Given the description of an element on the screen output the (x, y) to click on. 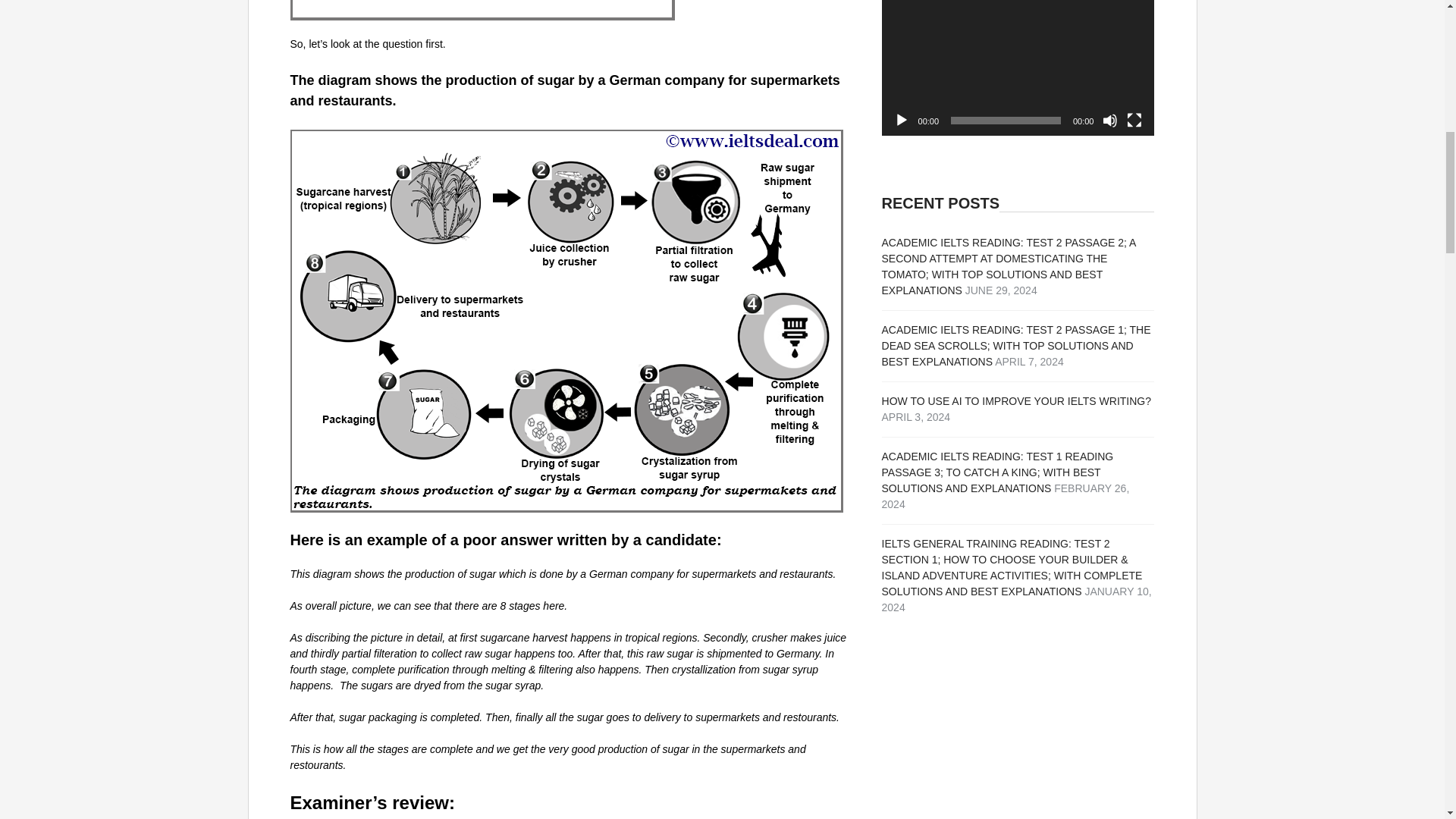
Mute (1110, 120)
Play (900, 120)
Fullscreen (1133, 120)
